Given the description of an element on the screen output the (x, y) to click on. 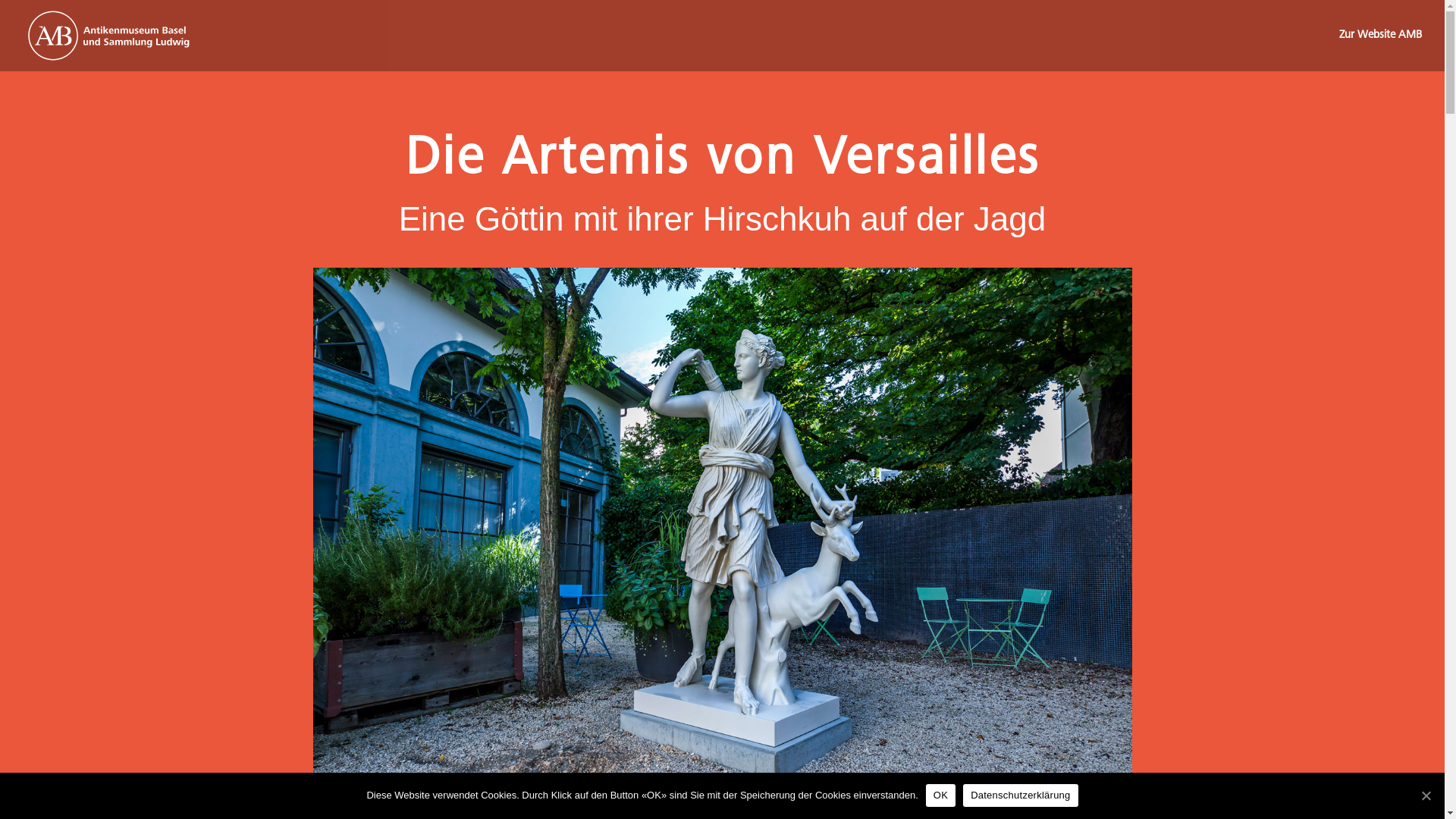
Zur Website AMB Element type: text (1380, 50)
OK Element type: text (940, 795)
